Given the description of an element on the screen output the (x, y) to click on. 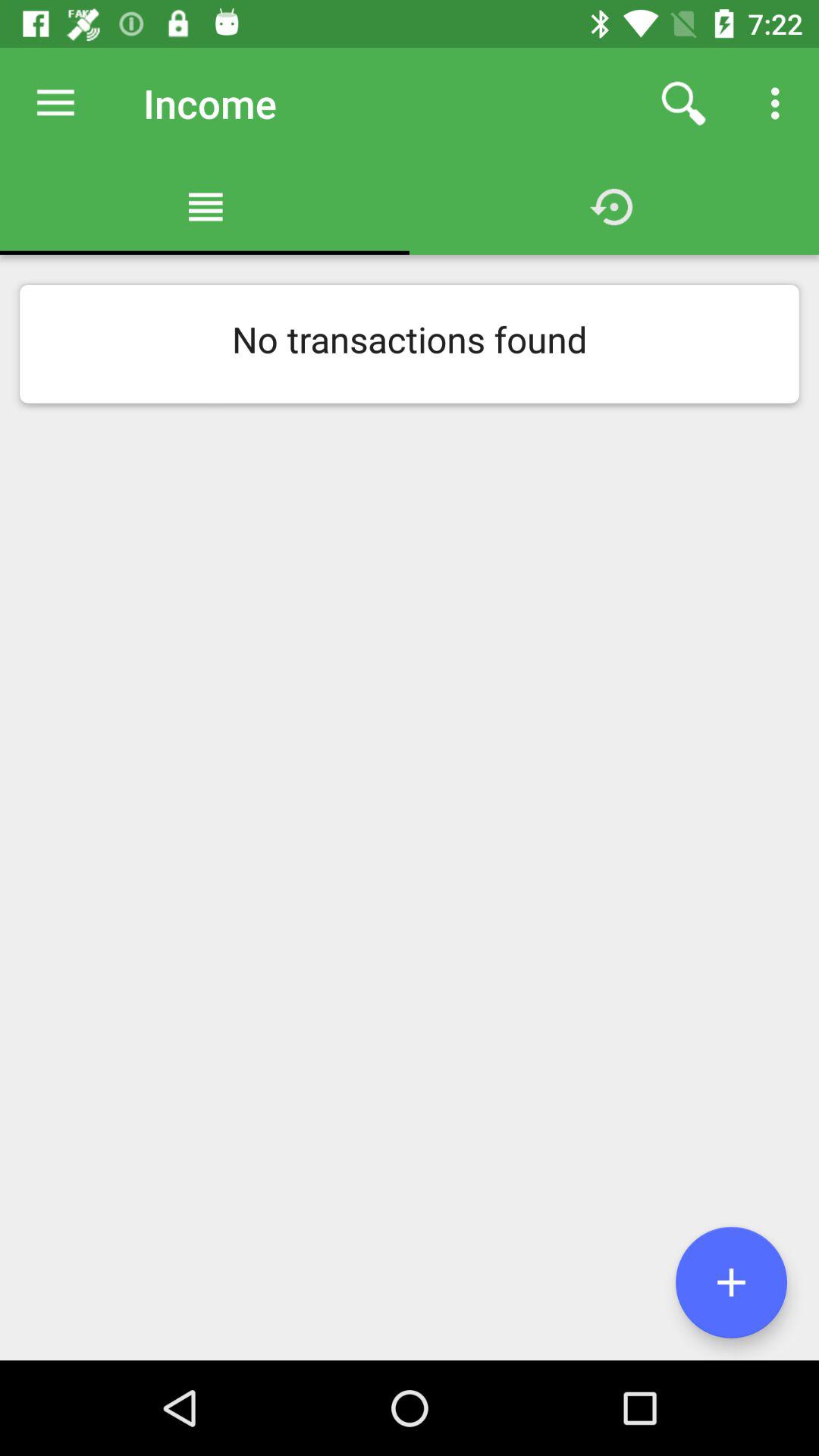
turn on the item next to income (55, 103)
